Given the description of an element on the screen output the (x, y) to click on. 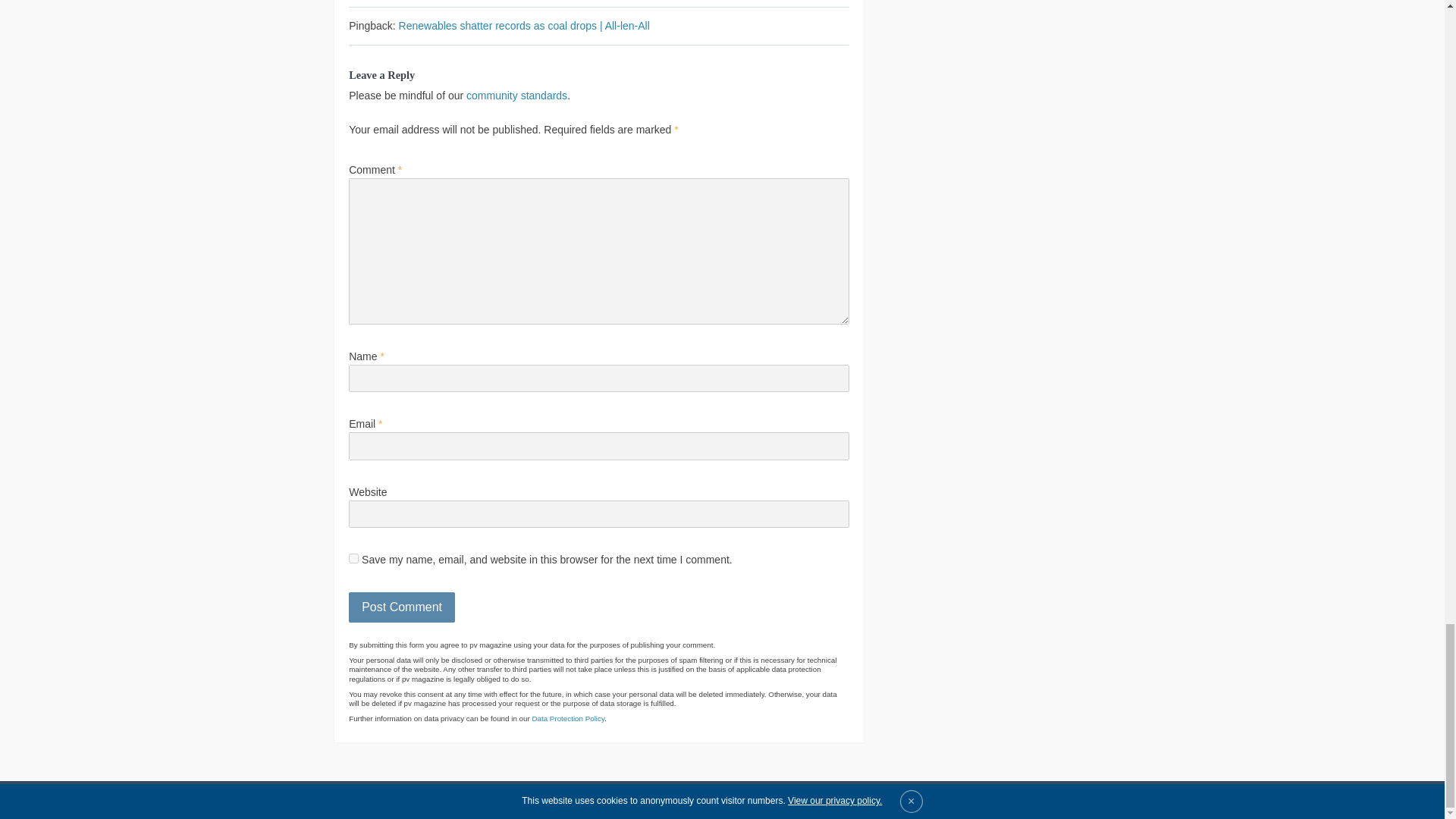
Post Comment (401, 607)
yes (353, 558)
